Given the description of an element on the screen output the (x, y) to click on. 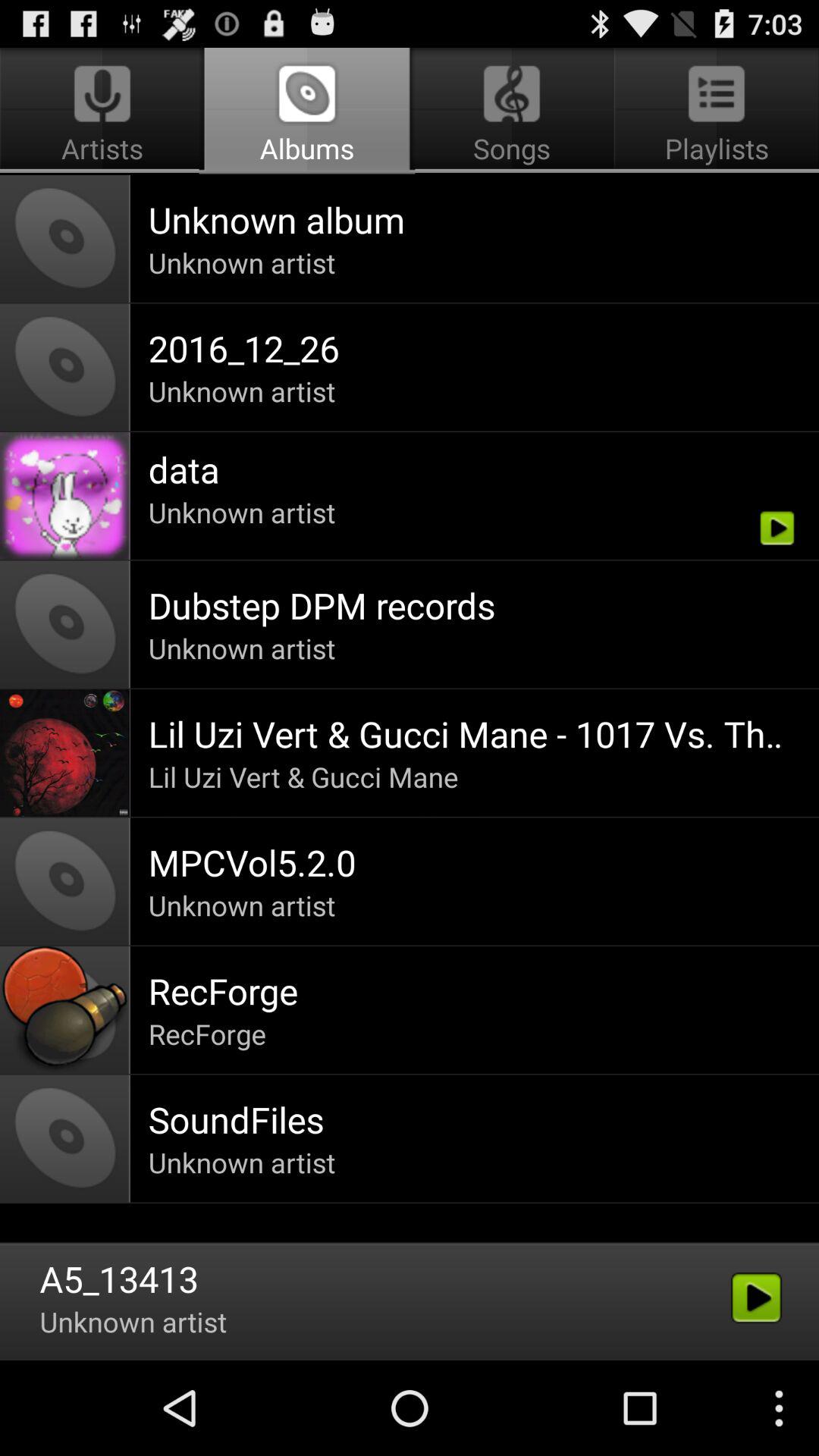
scroll until albums icon (307, 111)
